Given the description of an element on the screen output the (x, y) to click on. 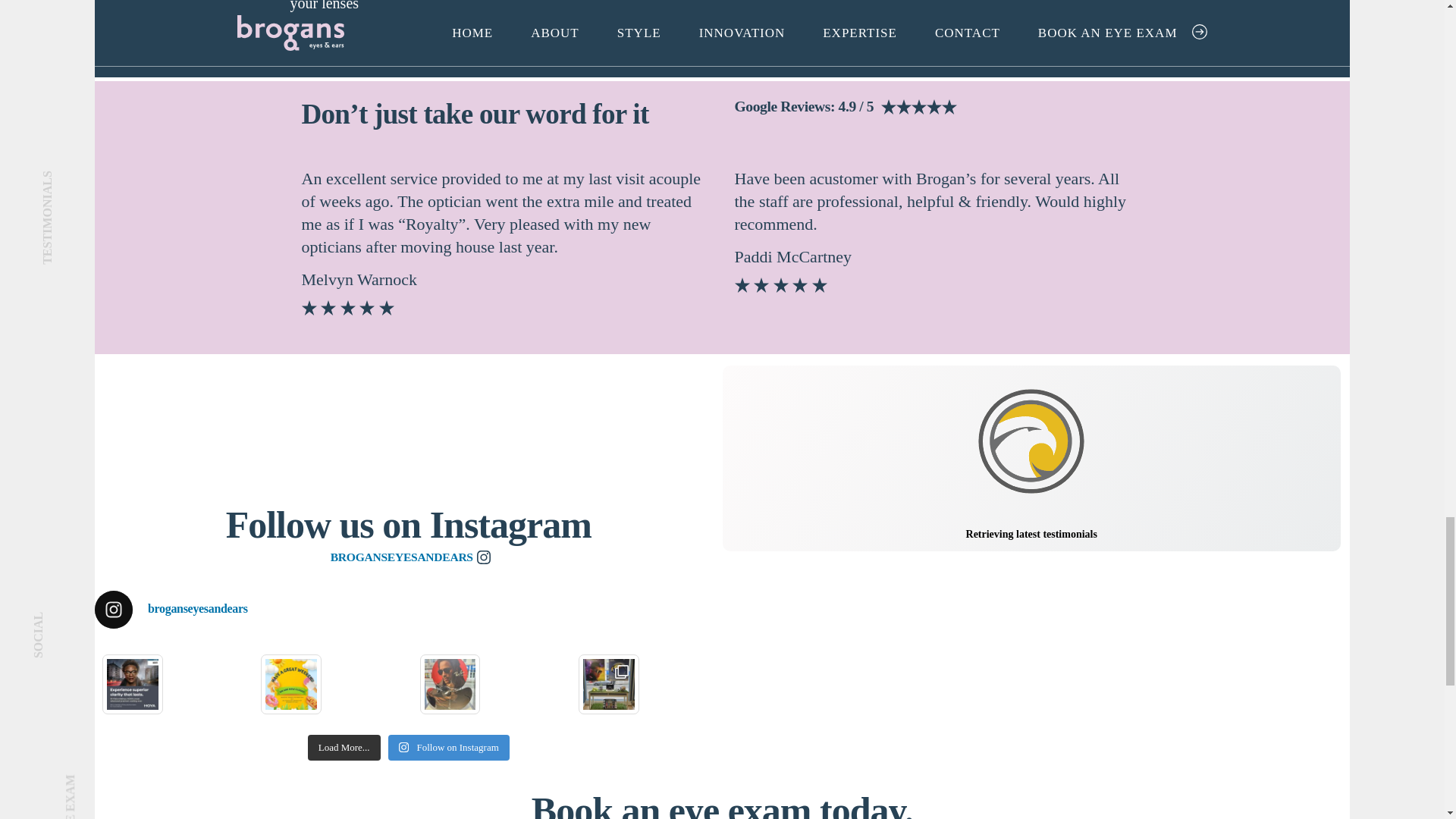
BROGANSEYESANDEARS (408, 556)
broganseyesandears (408, 609)
